Given the description of an element on the screen output the (x, y) to click on. 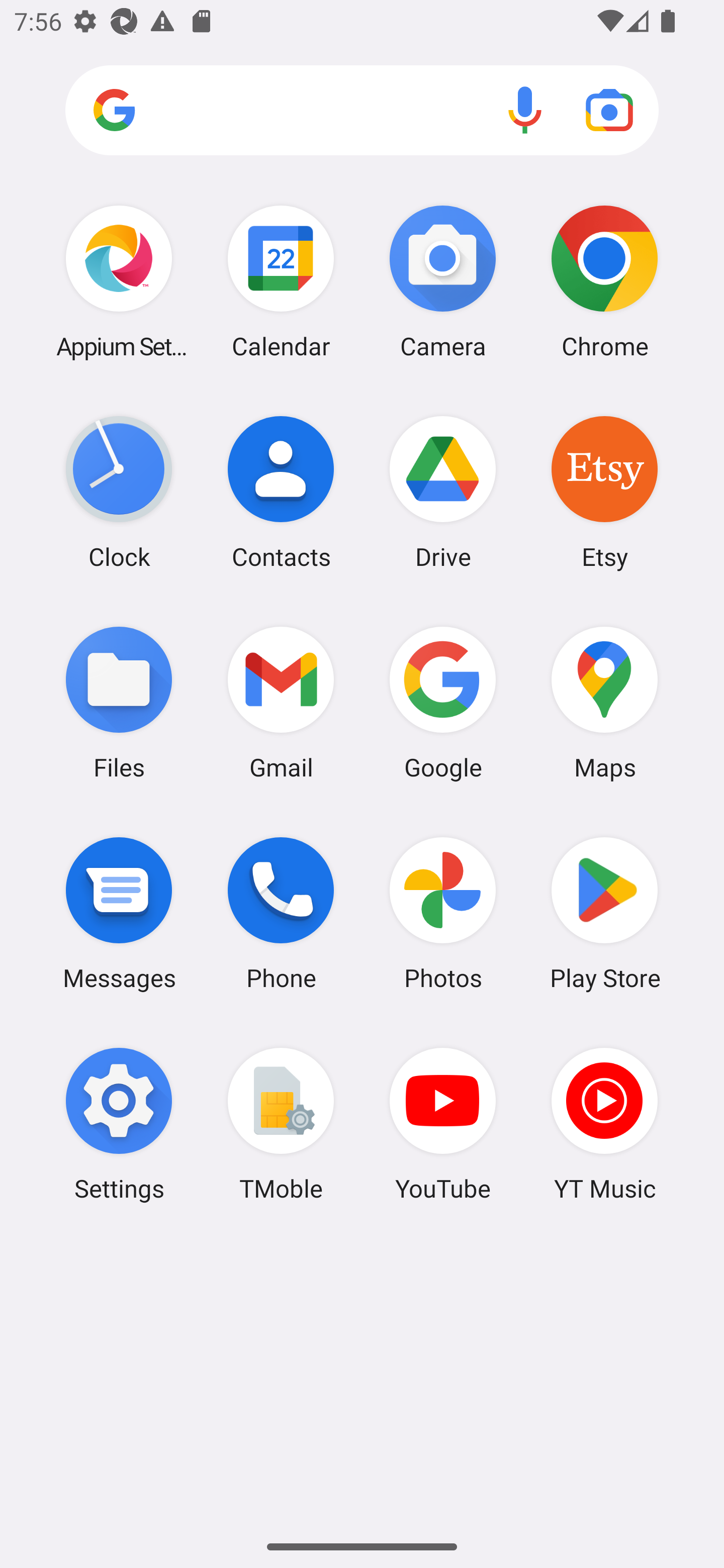
Search apps, web and more (361, 110)
Voice search (524, 109)
Google Lens (608, 109)
Appium Settings (118, 281)
Calendar (280, 281)
Camera (443, 281)
Chrome (604, 281)
Clock (118, 492)
Contacts (280, 492)
Drive (443, 492)
Etsy (604, 492)
Files (118, 702)
Gmail (280, 702)
Google (443, 702)
Maps (604, 702)
Messages (118, 913)
Phone (280, 913)
Photos (443, 913)
Play Store (604, 913)
Settings (118, 1124)
TMoble (280, 1124)
YouTube (443, 1124)
YT Music (604, 1124)
